Given the description of an element on the screen output the (x, y) to click on. 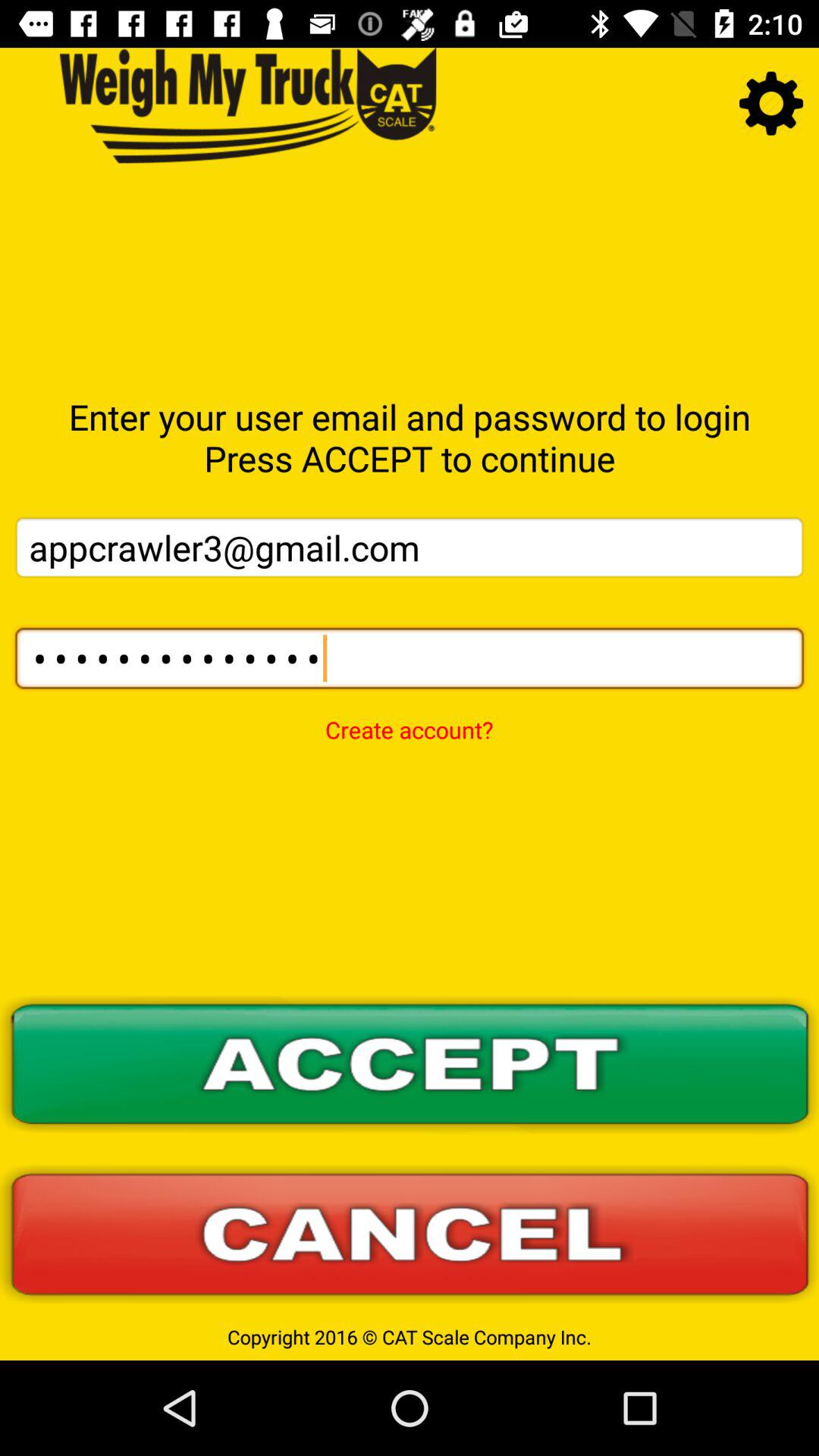
open the icon below the create account? icon (409, 1064)
